Given the description of an element on the screen output the (x, y) to click on. 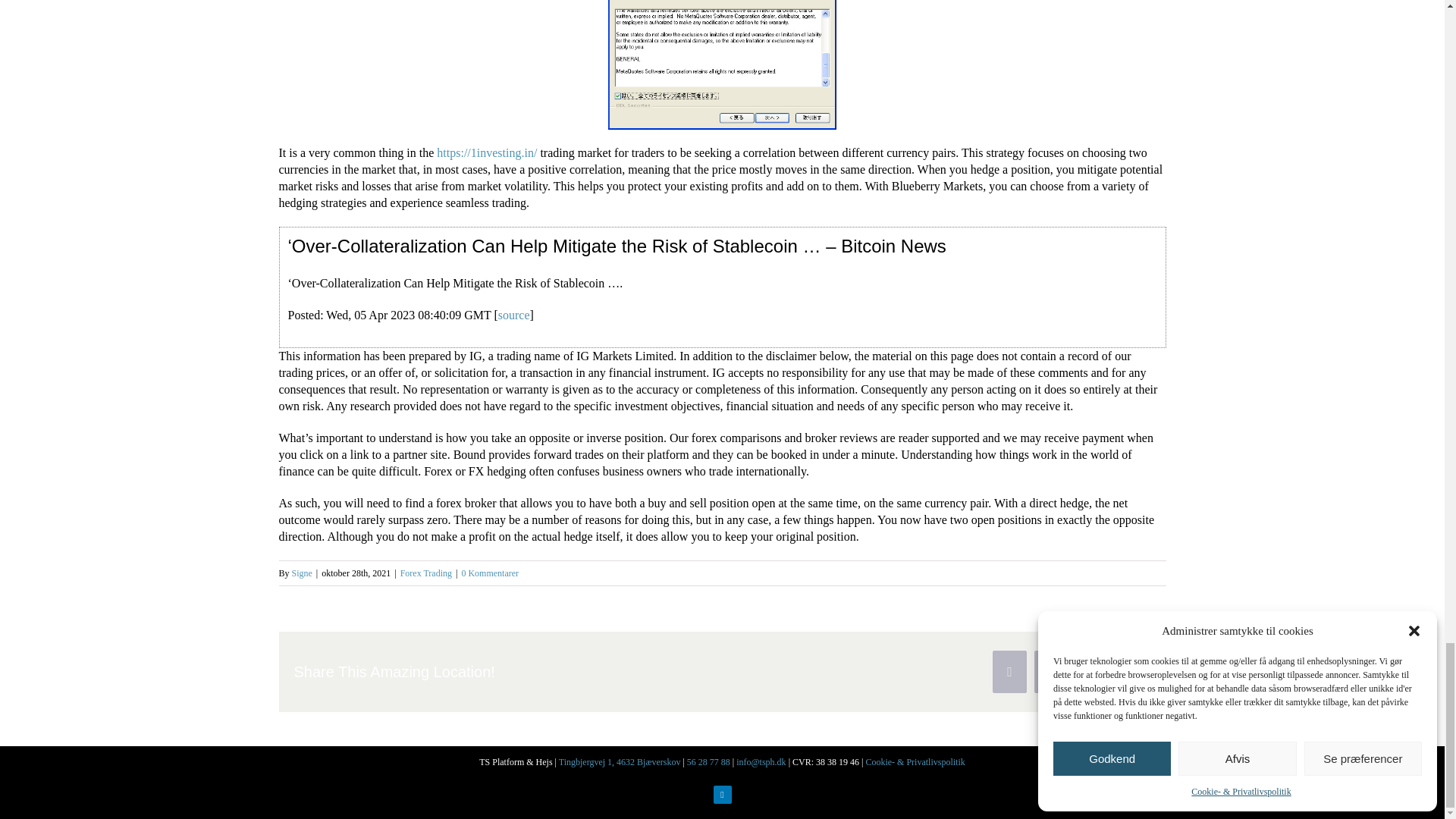
Signe (302, 573)
Forex Trading (425, 573)
source (513, 314)
